Given the description of an element on the screen output the (x, y) to click on. 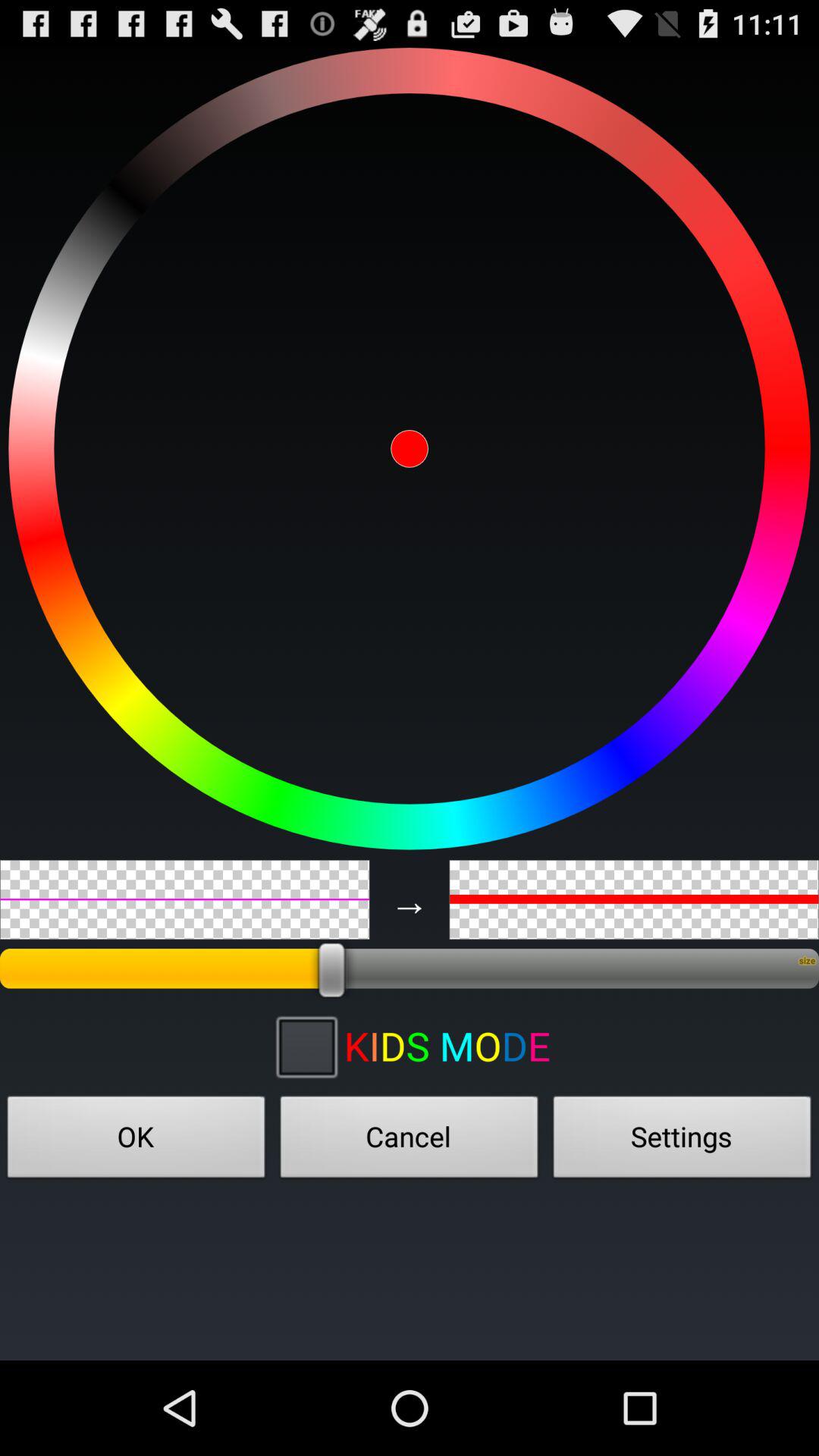
open the button next to the cancel item (136, 1141)
